Given the description of an element on the screen output the (x, y) to click on. 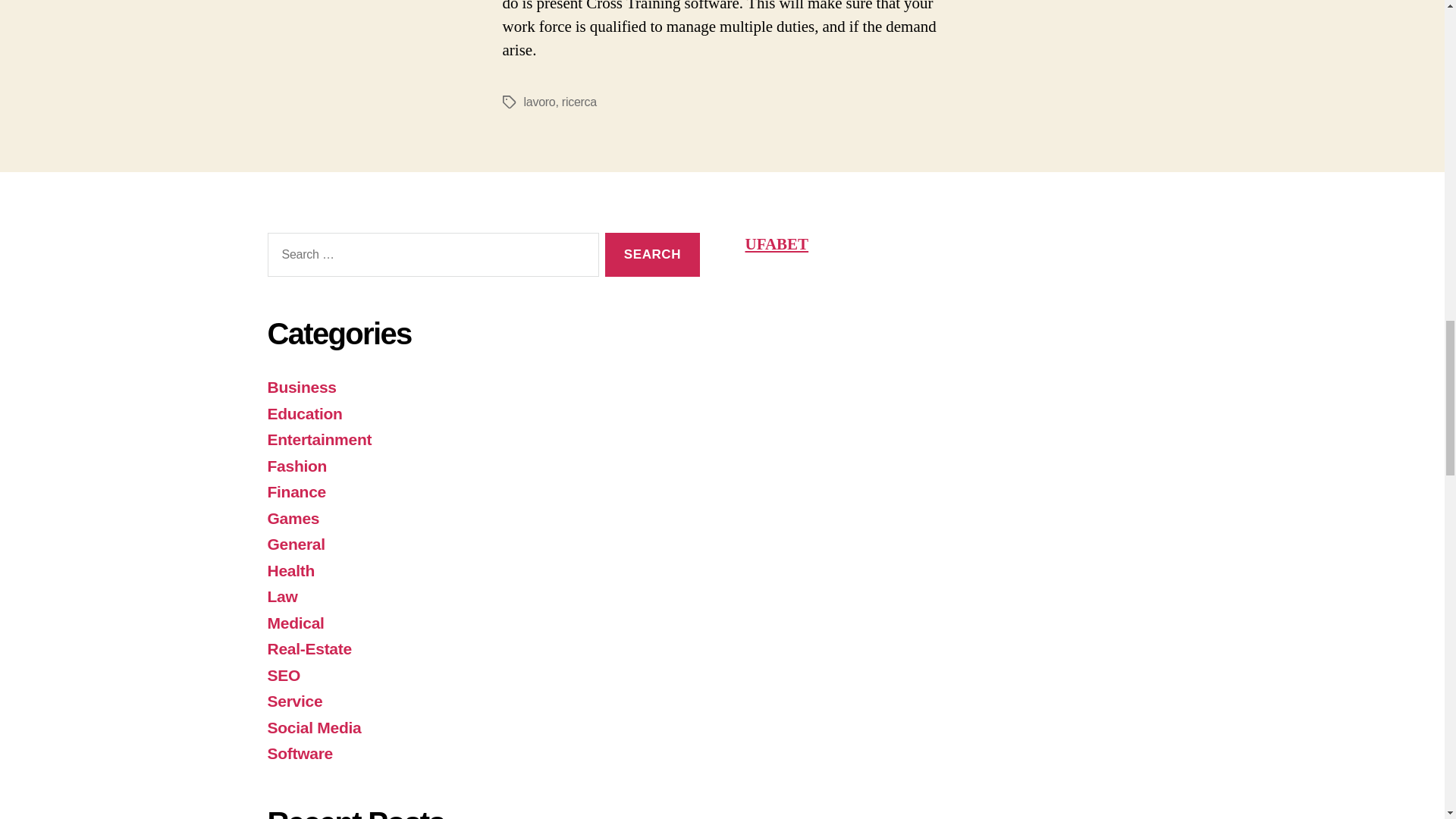
Medical (294, 622)
Search (651, 254)
Health (290, 570)
Search (651, 254)
Education (304, 413)
Law (281, 596)
ricerca (579, 101)
Business (301, 386)
General (295, 543)
lavoro (538, 101)
Games (292, 518)
Fashion (296, 466)
Entertainment (318, 438)
Finance (295, 491)
Search (651, 254)
